Given the description of an element on the screen output the (x, y) to click on. 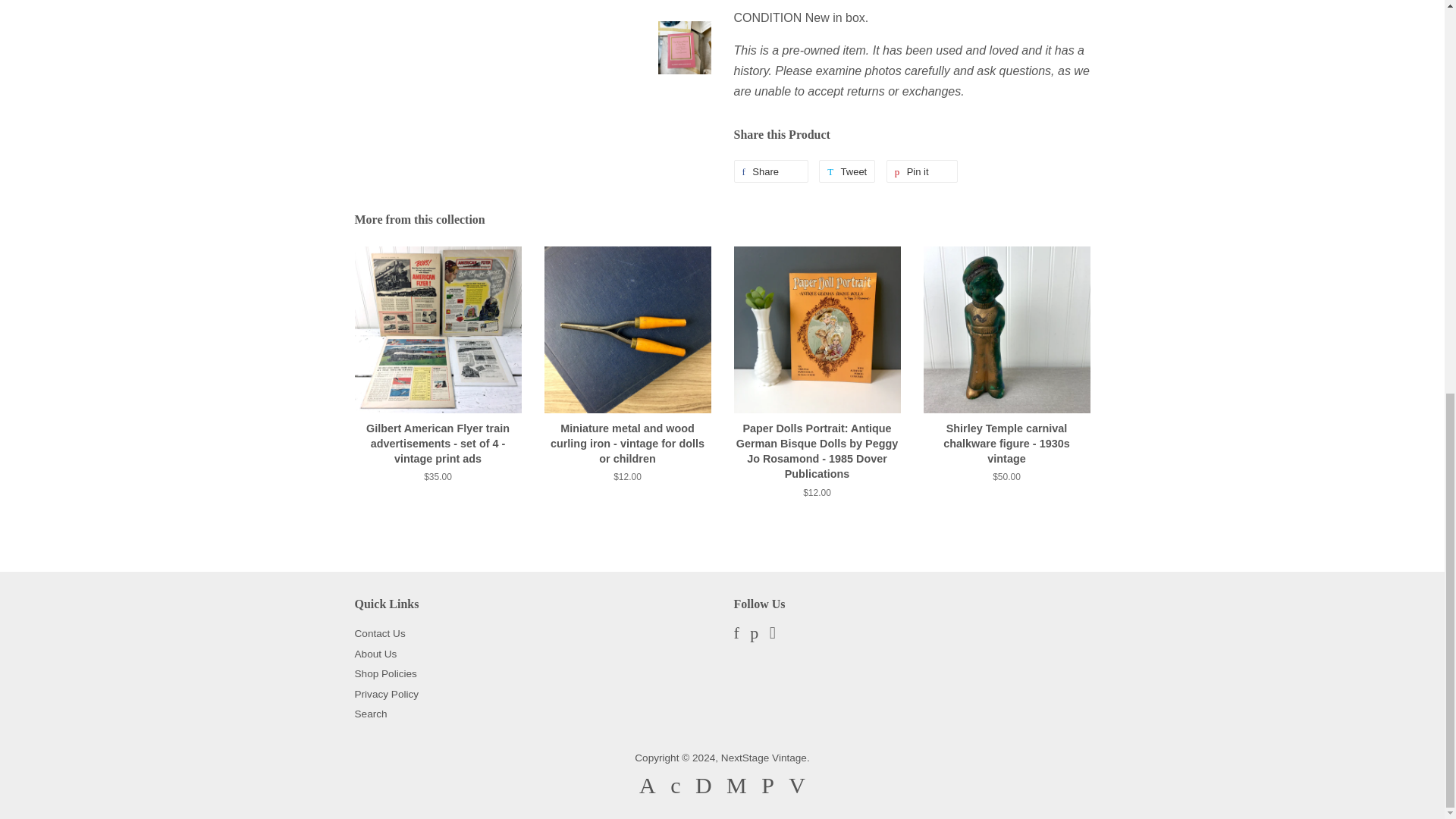
Tweet on Twitter (846, 170)
Share on Facebook (770, 170)
Pin on Pinterest (922, 170)
